Given the description of an element on the screen output the (x, y) to click on. 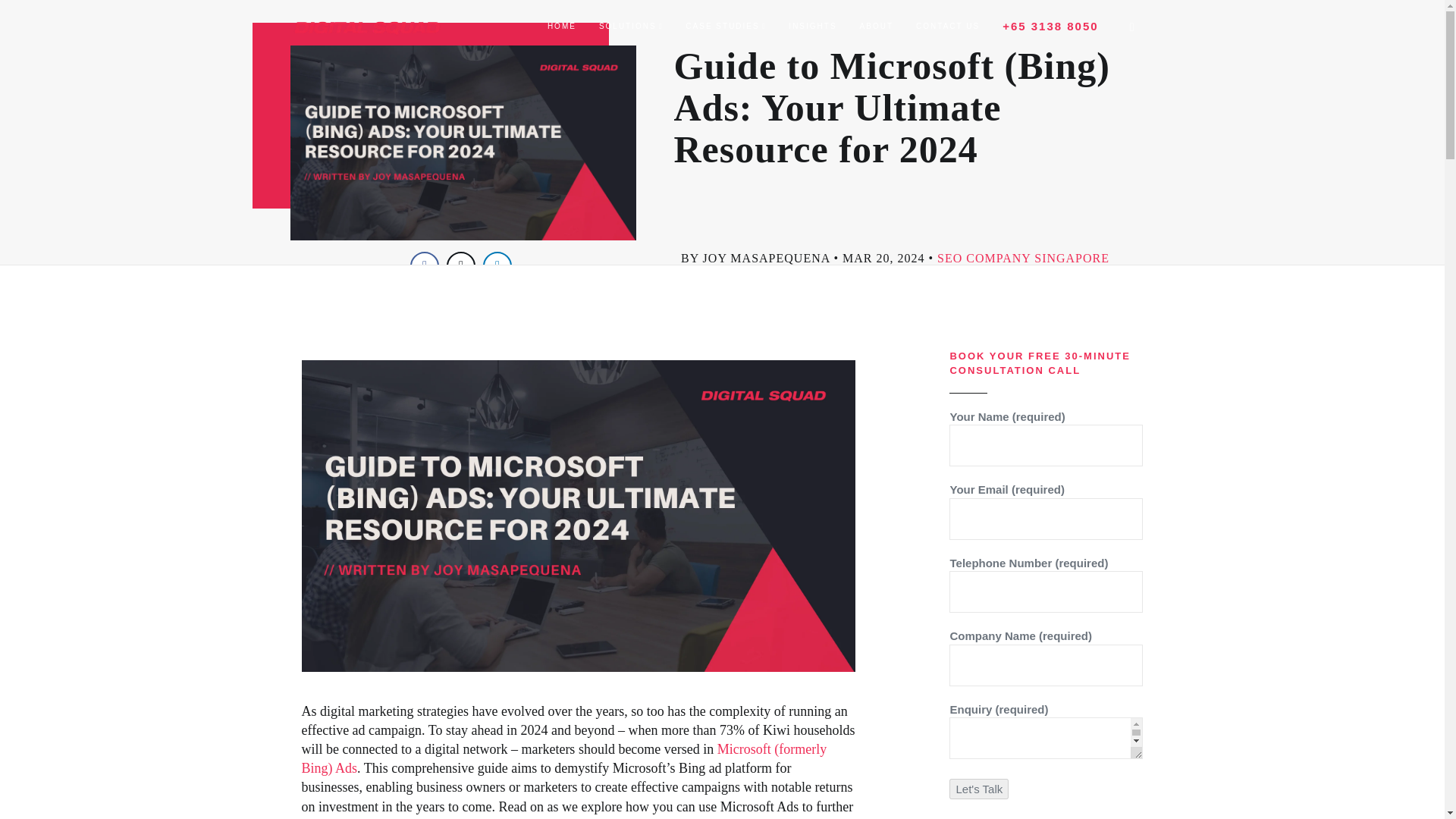
SOLUTIONS (631, 26)
Let's Talk (979, 788)
HOME (561, 26)
CASE STUDIES (725, 26)
INSIGHTS (812, 26)
ABOUT (876, 26)
CONTACT US (947, 26)
